Given the description of an element on the screen output the (x, y) to click on. 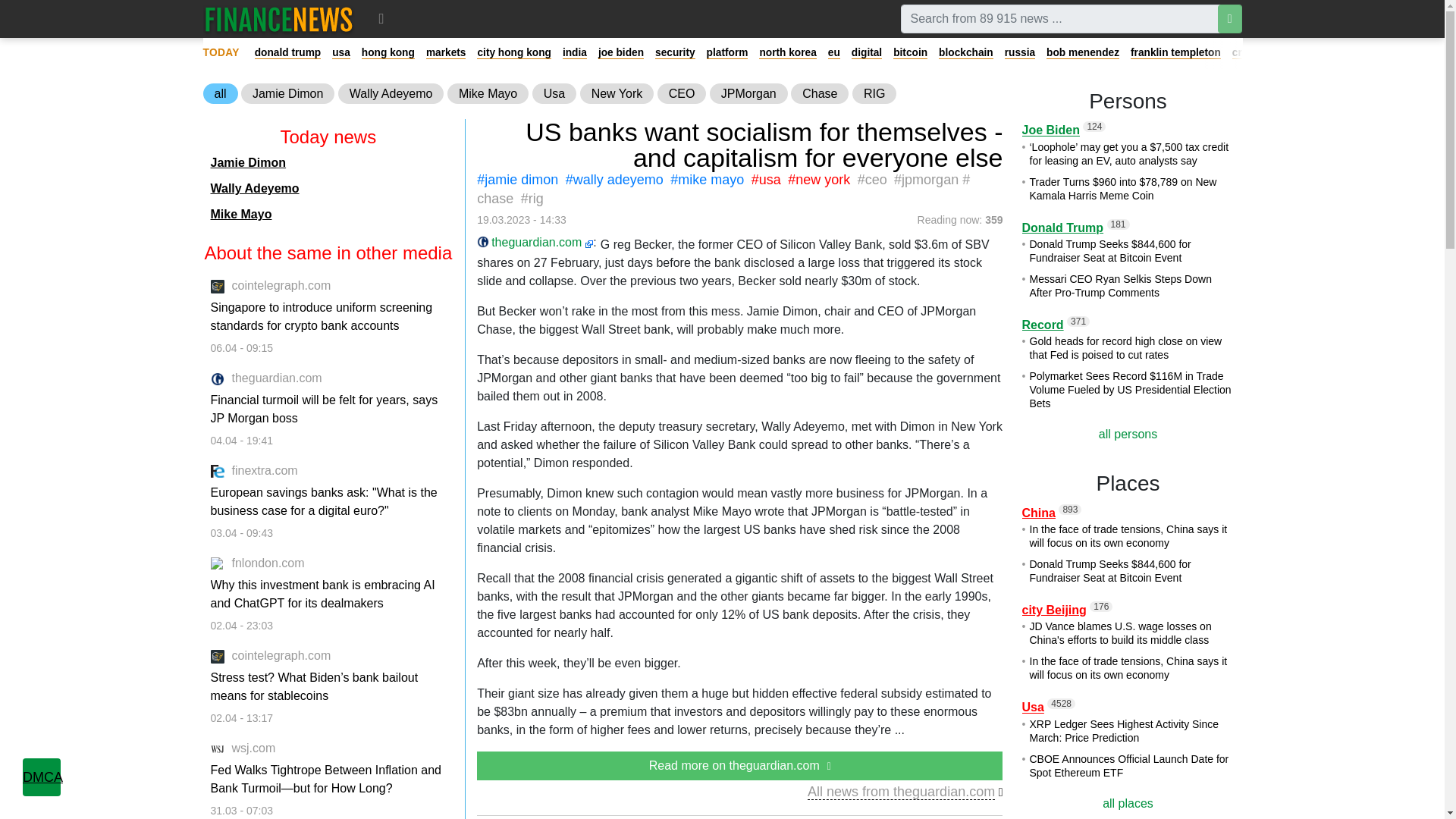
More (381, 17)
